Given the description of an element on the screen output the (x, y) to click on. 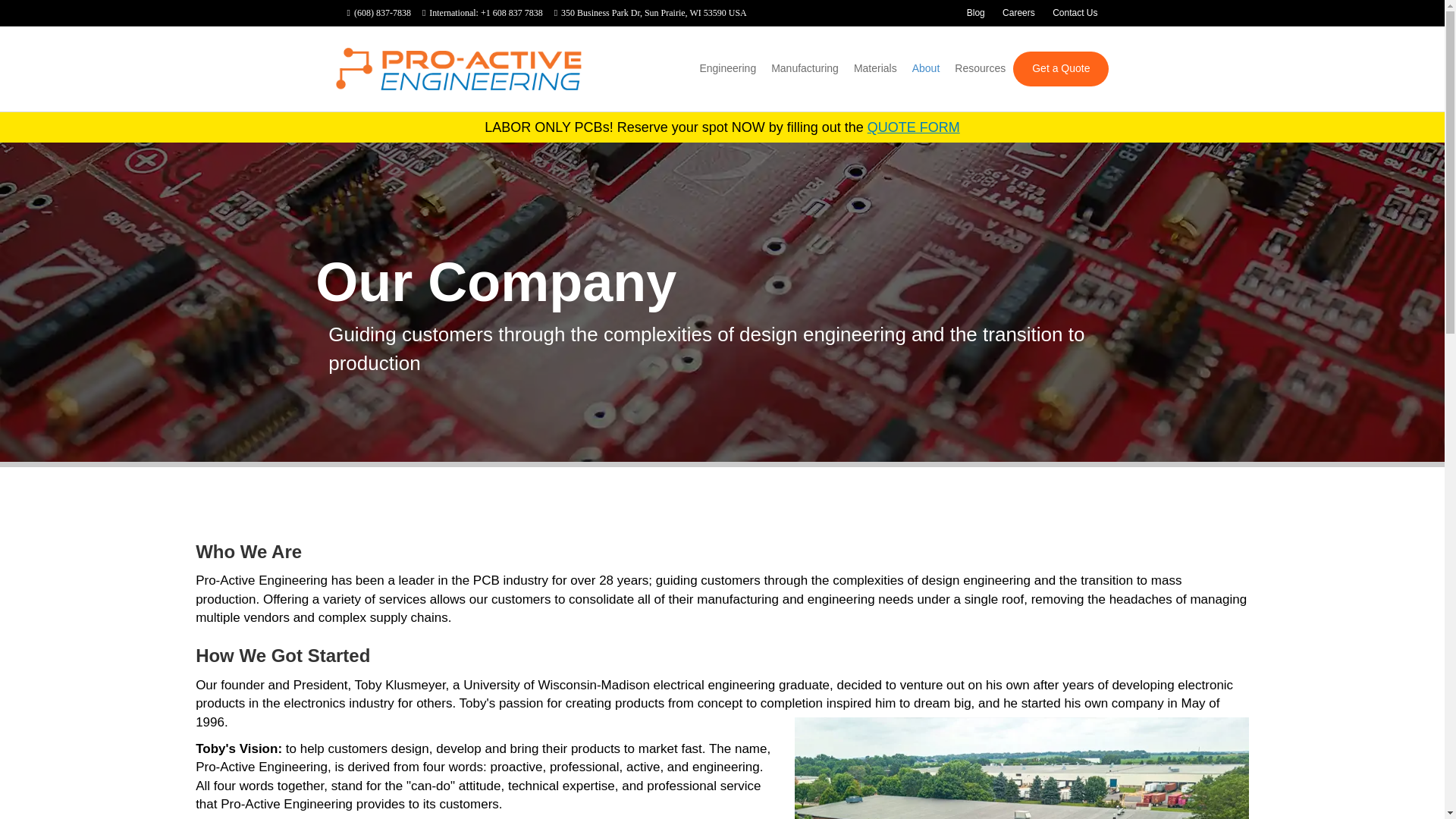
Careers (1018, 13)
Contact Us (1075, 13)
Blog (975, 13)
Manufacturing (803, 68)
About (925, 68)
Materials (874, 68)
Engineering (726, 68)
Get a Quote (1060, 68)
Resources (980, 68)
